Given the description of an element on the screen output the (x, y) to click on. 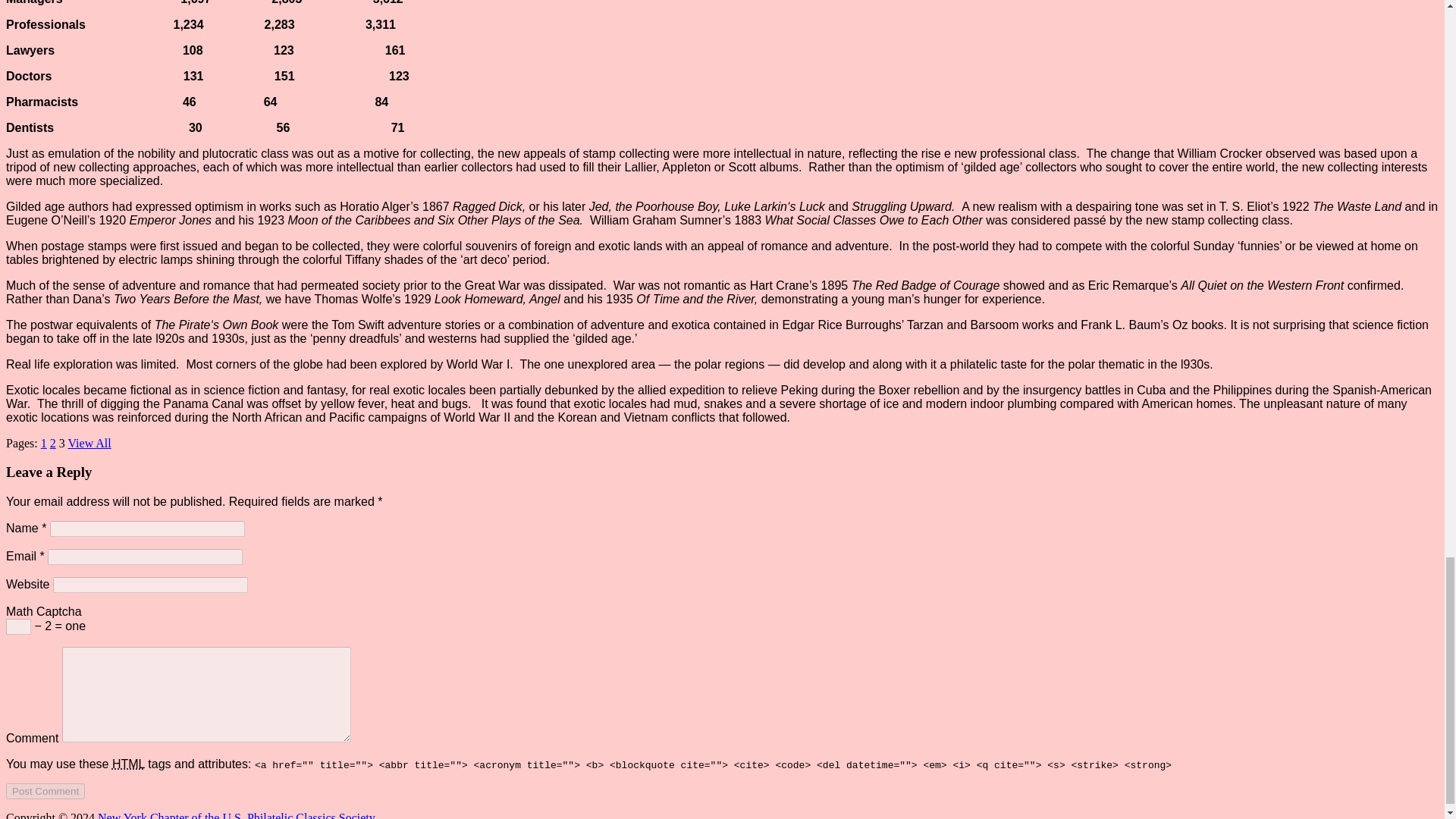
HyperText Markup Language (128, 763)
Post Comment (44, 790)
View All (90, 442)
